Given the description of an element on the screen output the (x, y) to click on. 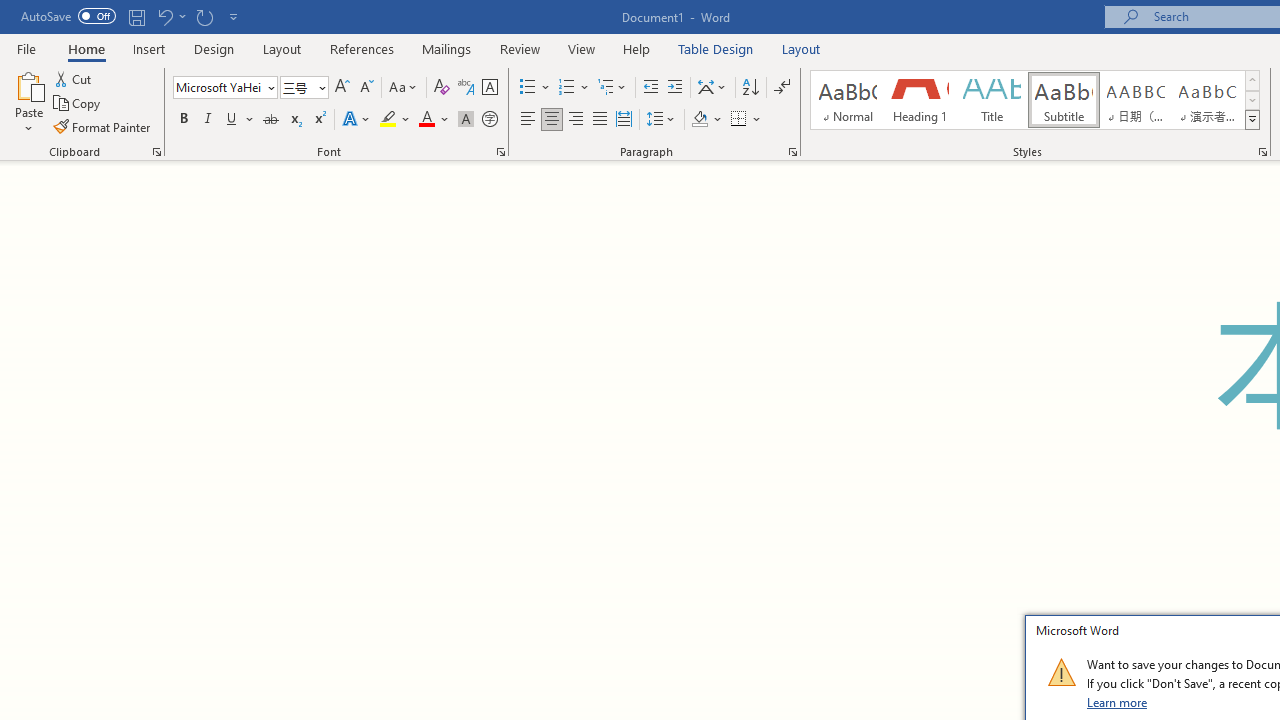
Text Highlight Color Yellow (388, 119)
Shrink Font (365, 87)
Font... (500, 151)
Clear Formatting (442, 87)
Office Clipboard... (156, 151)
Font Color Red (426, 119)
